Given the description of an element on the screen output the (x, y) to click on. 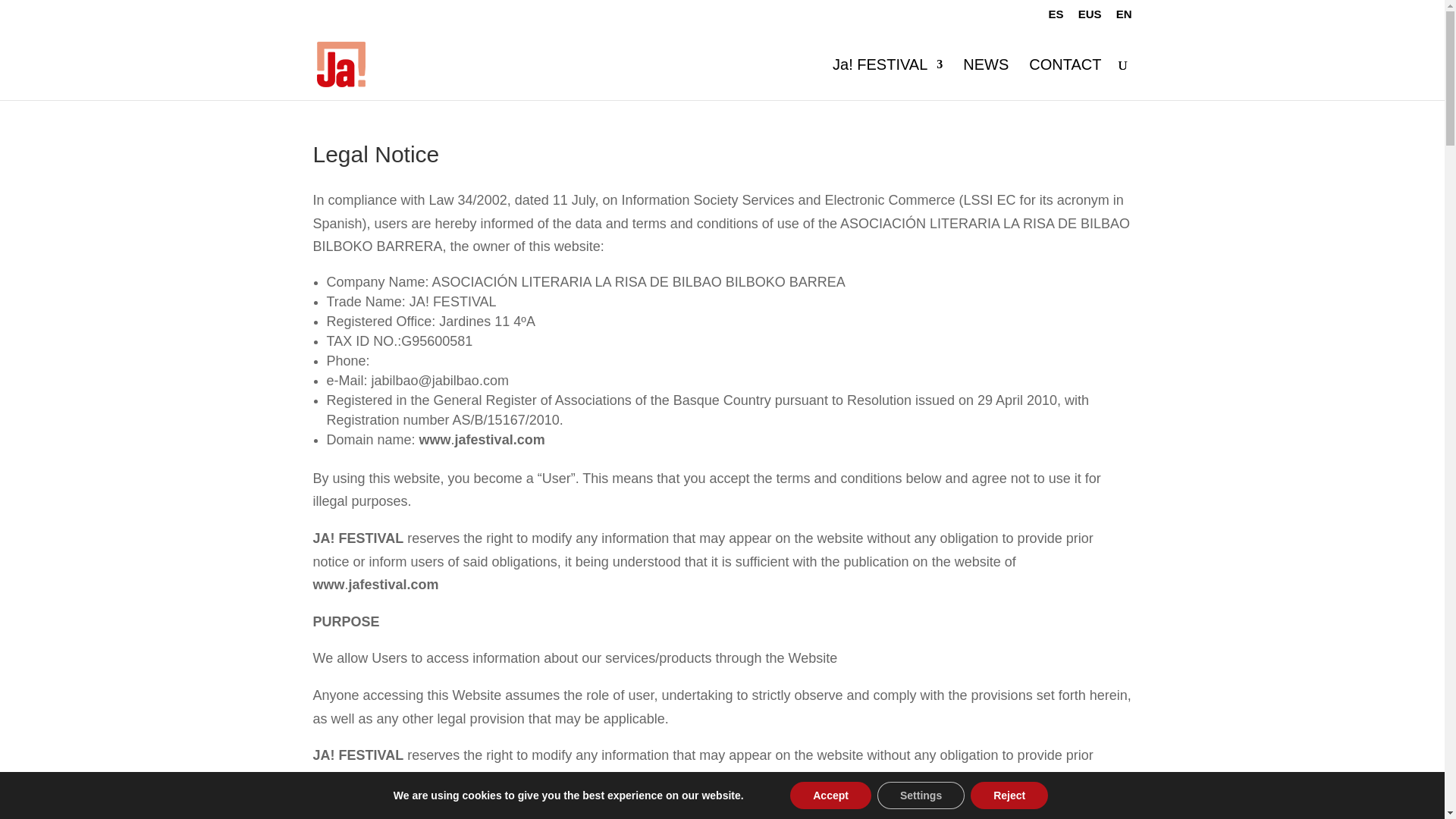
Reject (1009, 795)
CONTACT (1064, 78)
Accept (830, 795)
EUS (1090, 17)
NEWS (985, 78)
Ja! FESTIVAL (887, 78)
Settings (920, 795)
EUS (1090, 17)
